Given the description of an element on the screen output the (x, y) to click on. 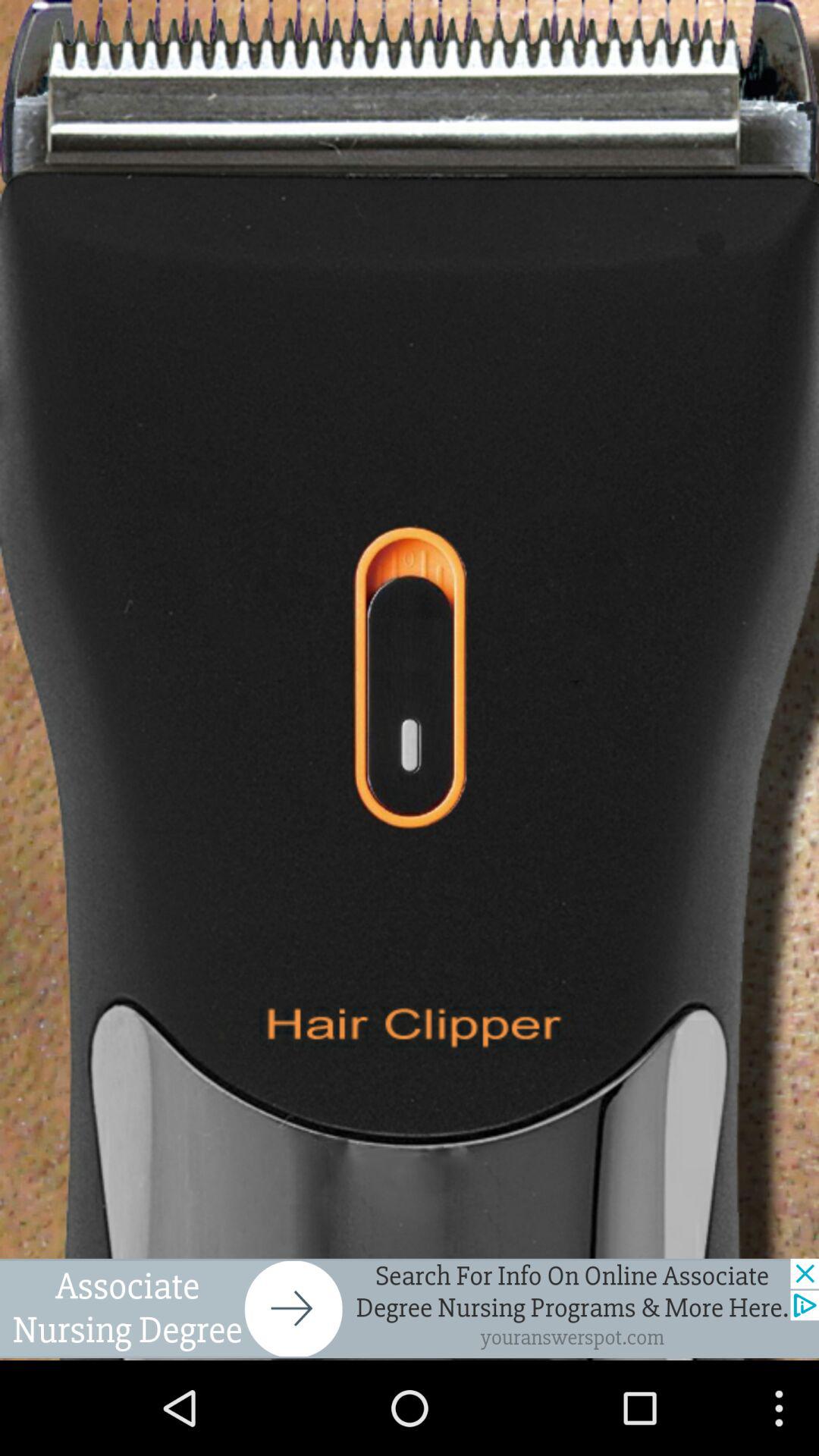
click advertisement (409, 1308)
